Given the description of an element on the screen output the (x, y) to click on. 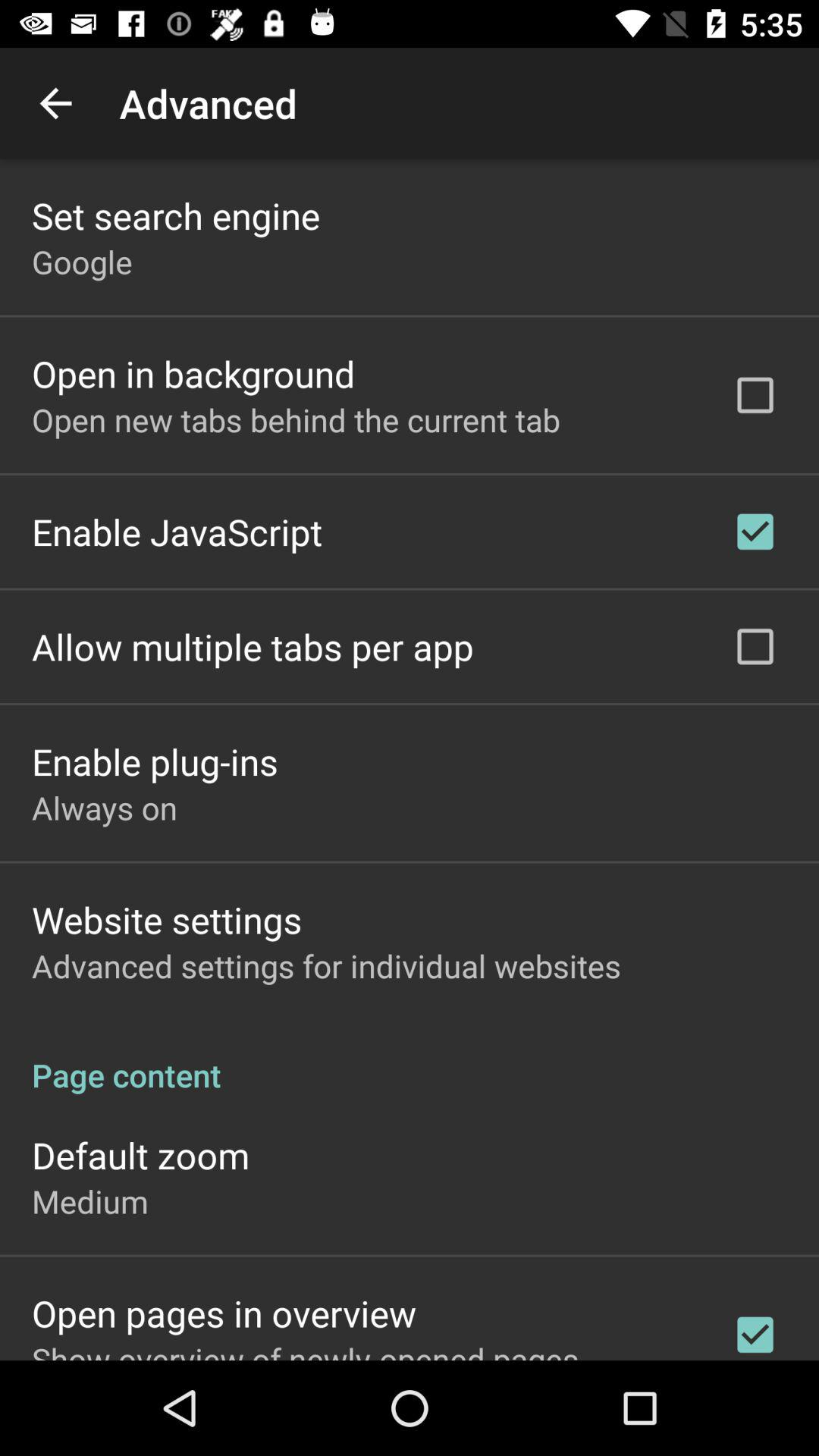
turn off item below default zoom item (89, 1200)
